Given the description of an element on the screen output the (x, y) to click on. 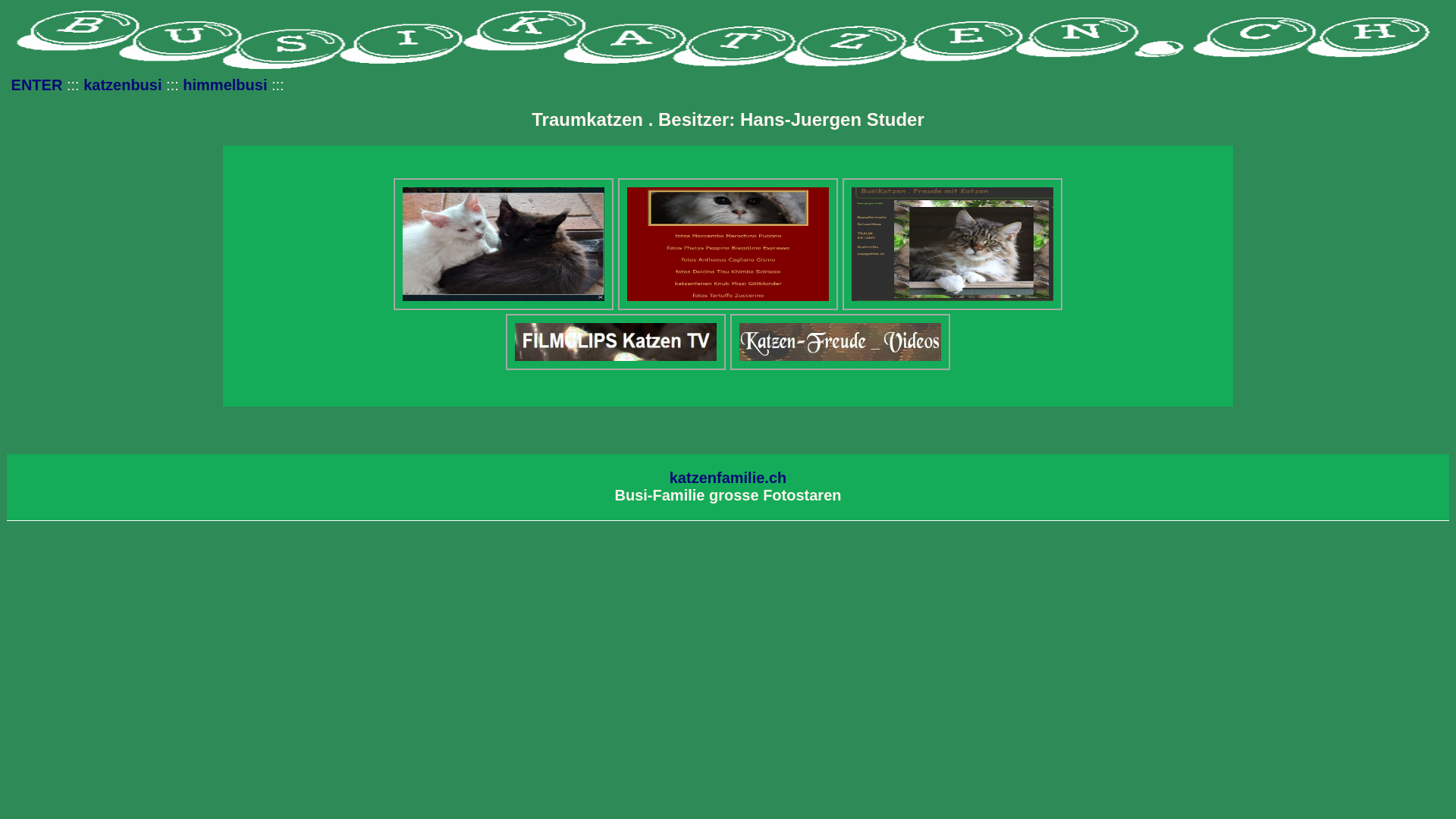
katzenfamilie.ch Element type: text (728, 477)
ENTER Element type: text (36, 84)
katzenbusi Element type: text (122, 84)
himmelbusi Element type: text (224, 84)
